Given the description of an element on the screen output the (x, y) to click on. 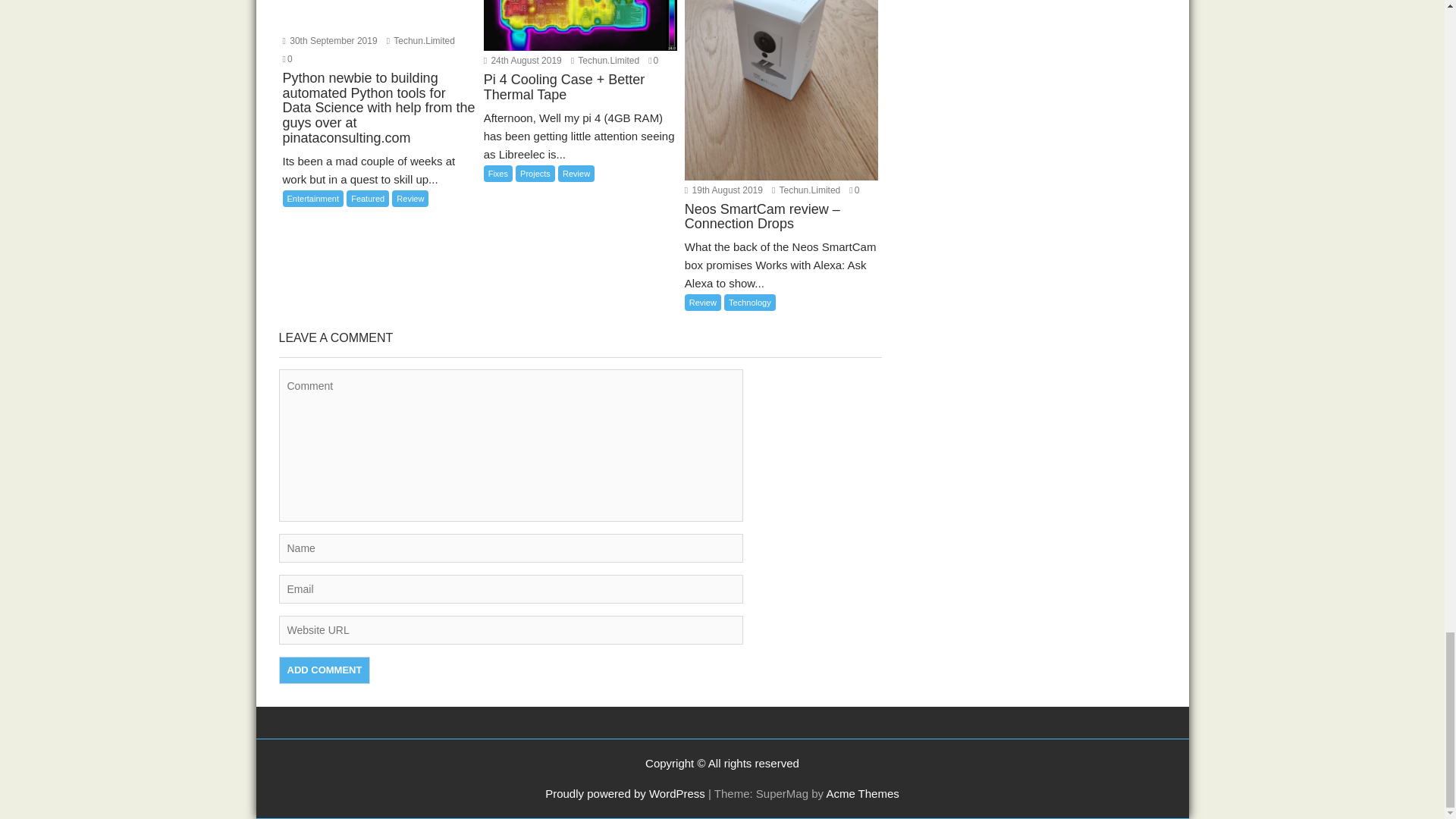
Techun.Limited (805, 190)
Techun.Limited (604, 60)
Add Comment (325, 669)
Techun.Limited (420, 40)
